Given the description of an element on the screen output the (x, y) to click on. 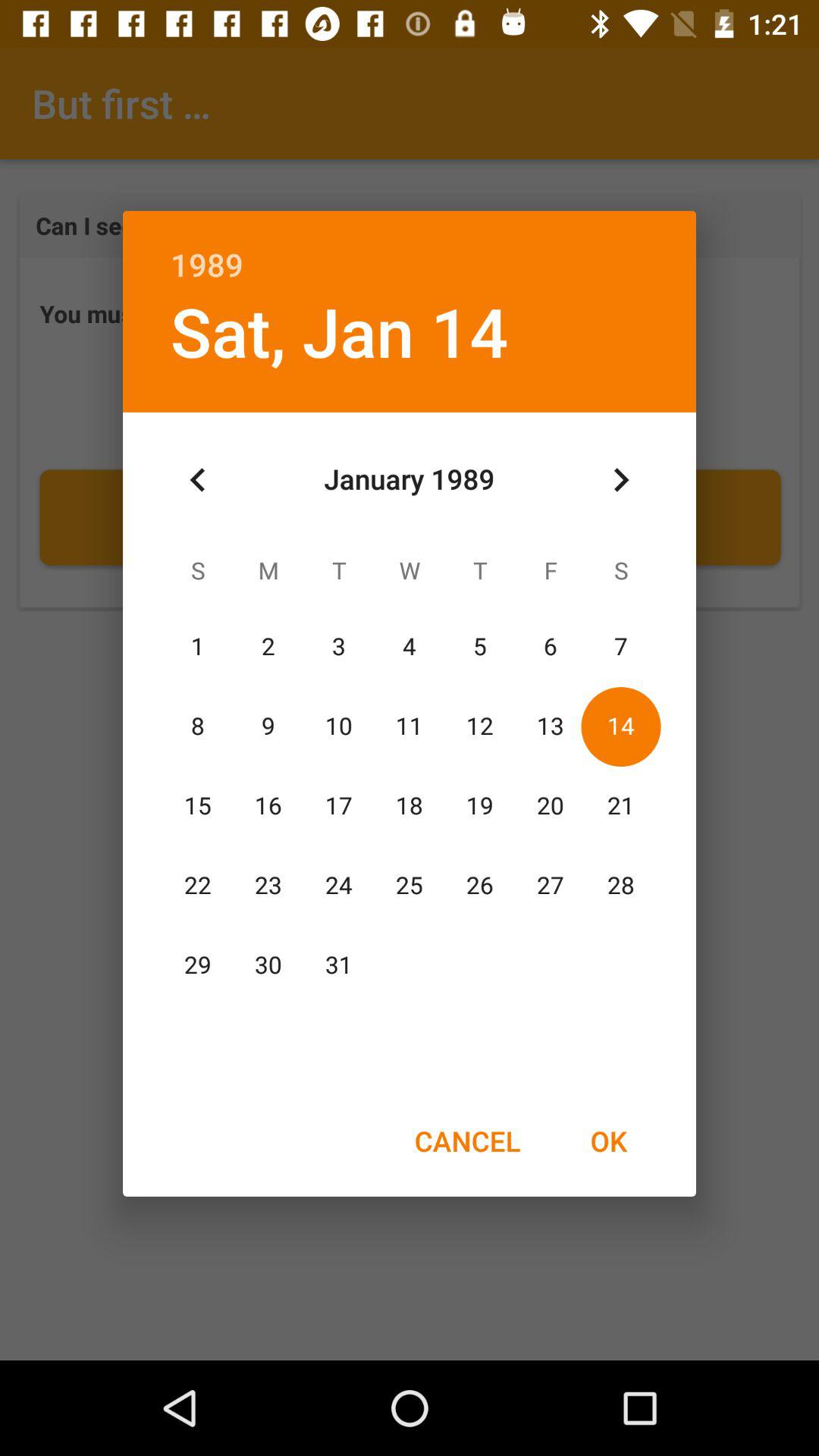
scroll to the ok item (608, 1140)
